Given the description of an element on the screen output the (x, y) to click on. 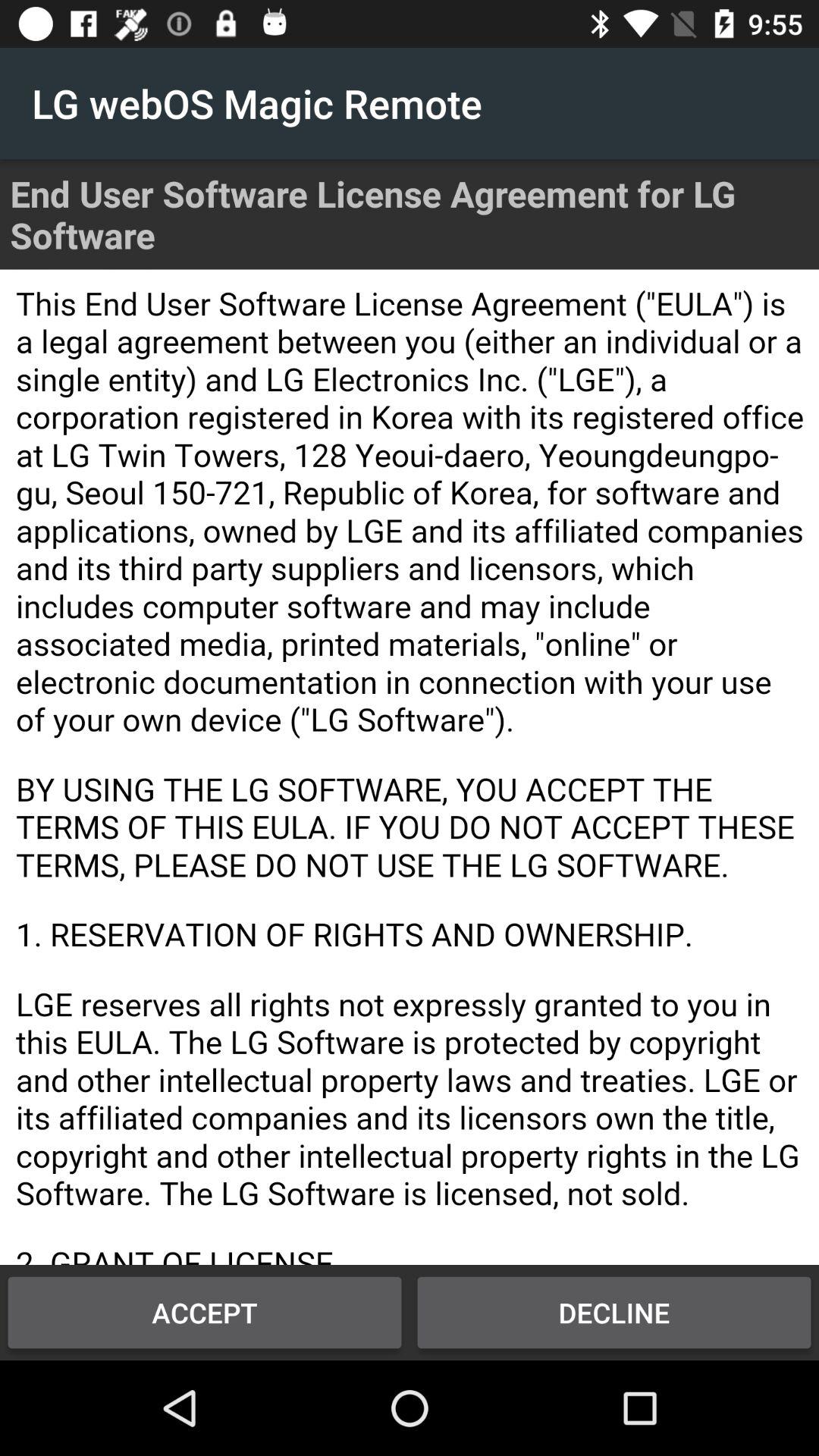
diskgrassland (409, 766)
